Given the description of an element on the screen output the (x, y) to click on. 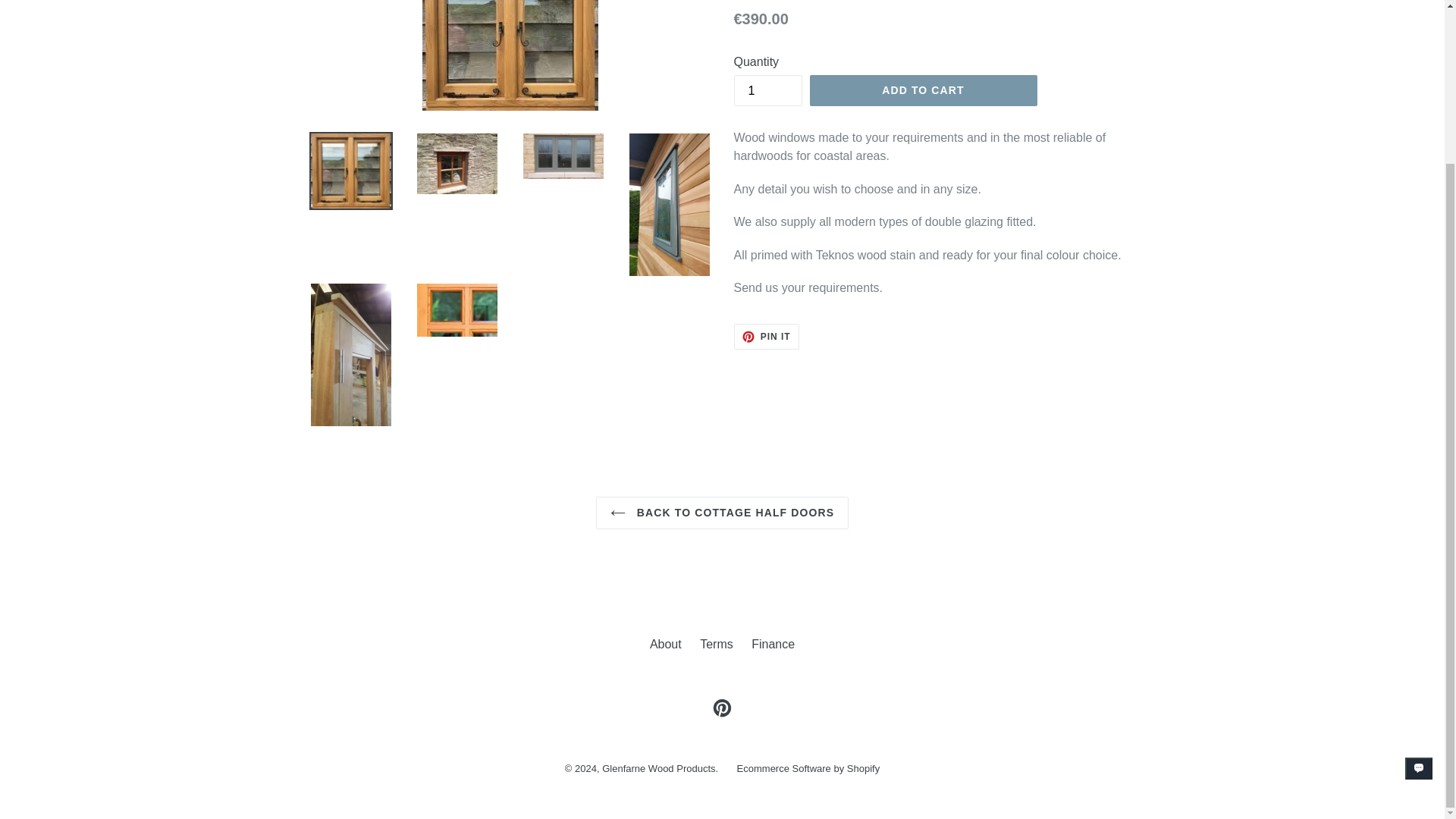
Pinterest (721, 706)
Glenfarne Wood Products. on Pinterest (721, 706)
BACK TO COTTAGE HALF DOORS (721, 512)
About (665, 644)
ADD TO CART (766, 336)
Terms (922, 91)
1 (716, 644)
Finance (767, 90)
Pin on Pinterest (772, 644)
